Given the description of an element on the screen output the (x, y) to click on. 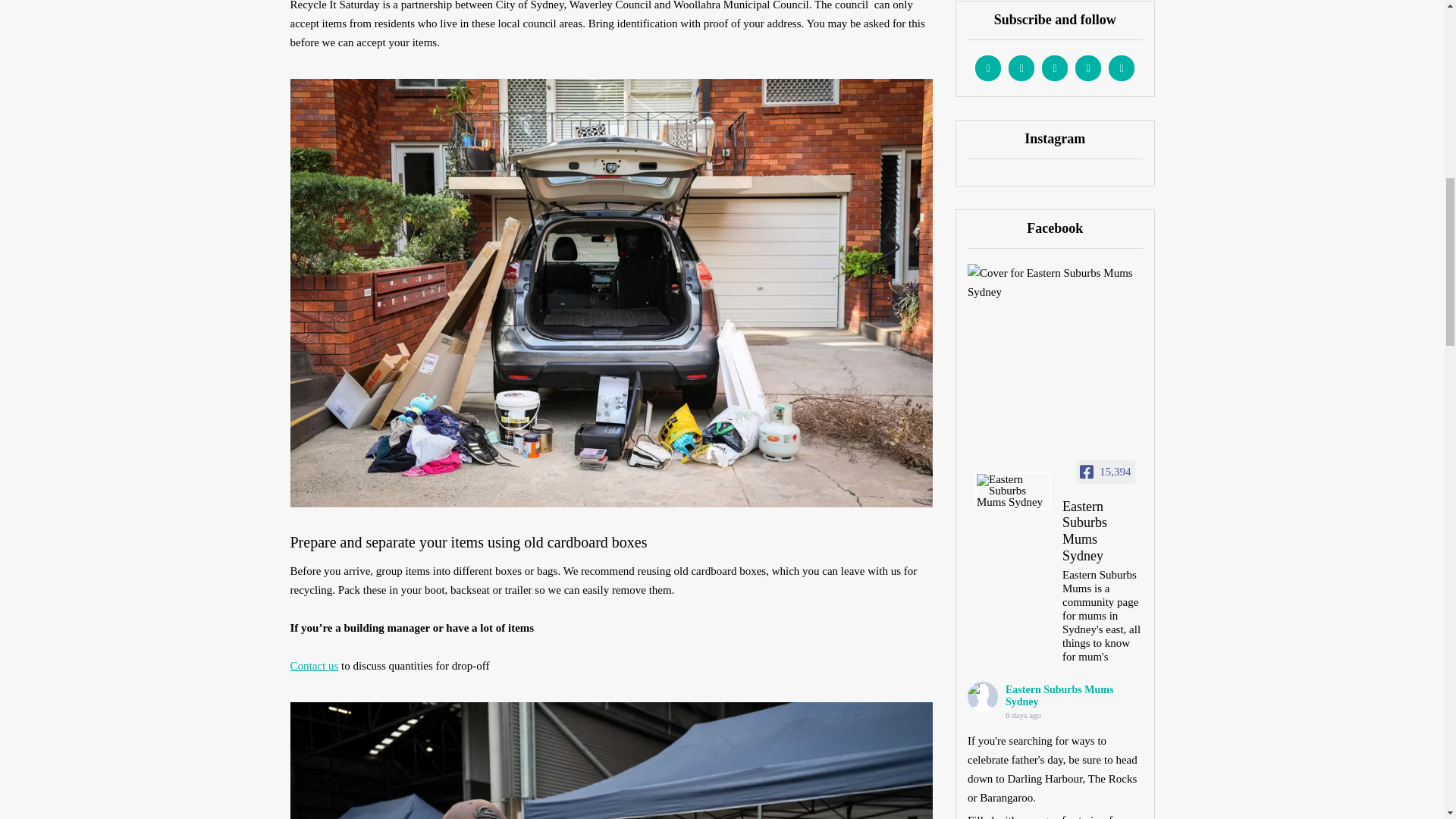
Eastern Suburbs Mums Sydney (982, 696)
Eastern Suburbs Mums Sydney (1102, 533)
Eastern Suburbs Mums Sydney (1013, 490)
